Given the description of an element on the screen output the (x, y) to click on. 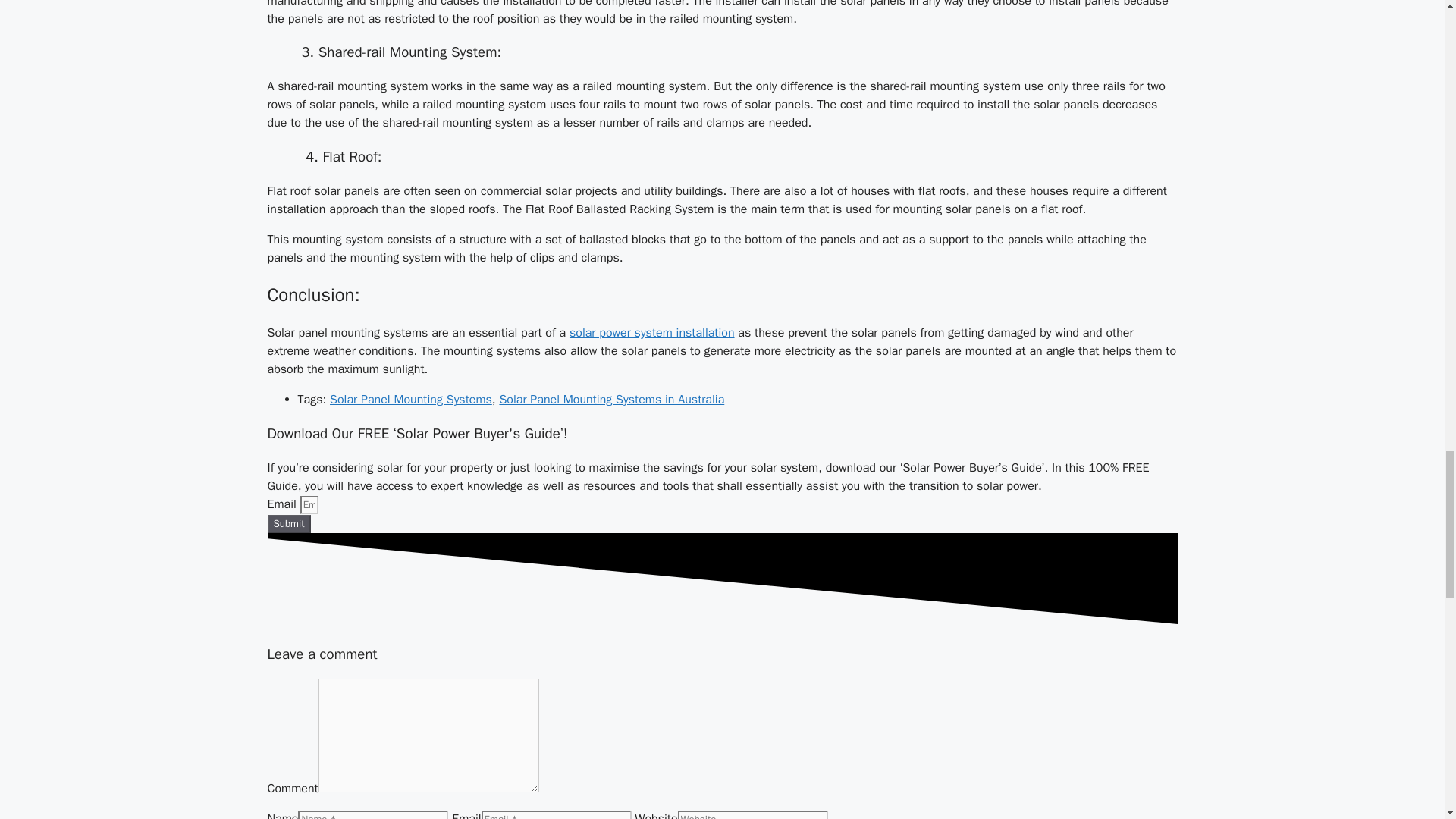
Solar Panel Mounting Systems (411, 399)
Solar Panel Mounting Systems in Australia (611, 399)
Submit (288, 524)
solar power system installation (652, 332)
